Given the description of an element on the screen output the (x, y) to click on. 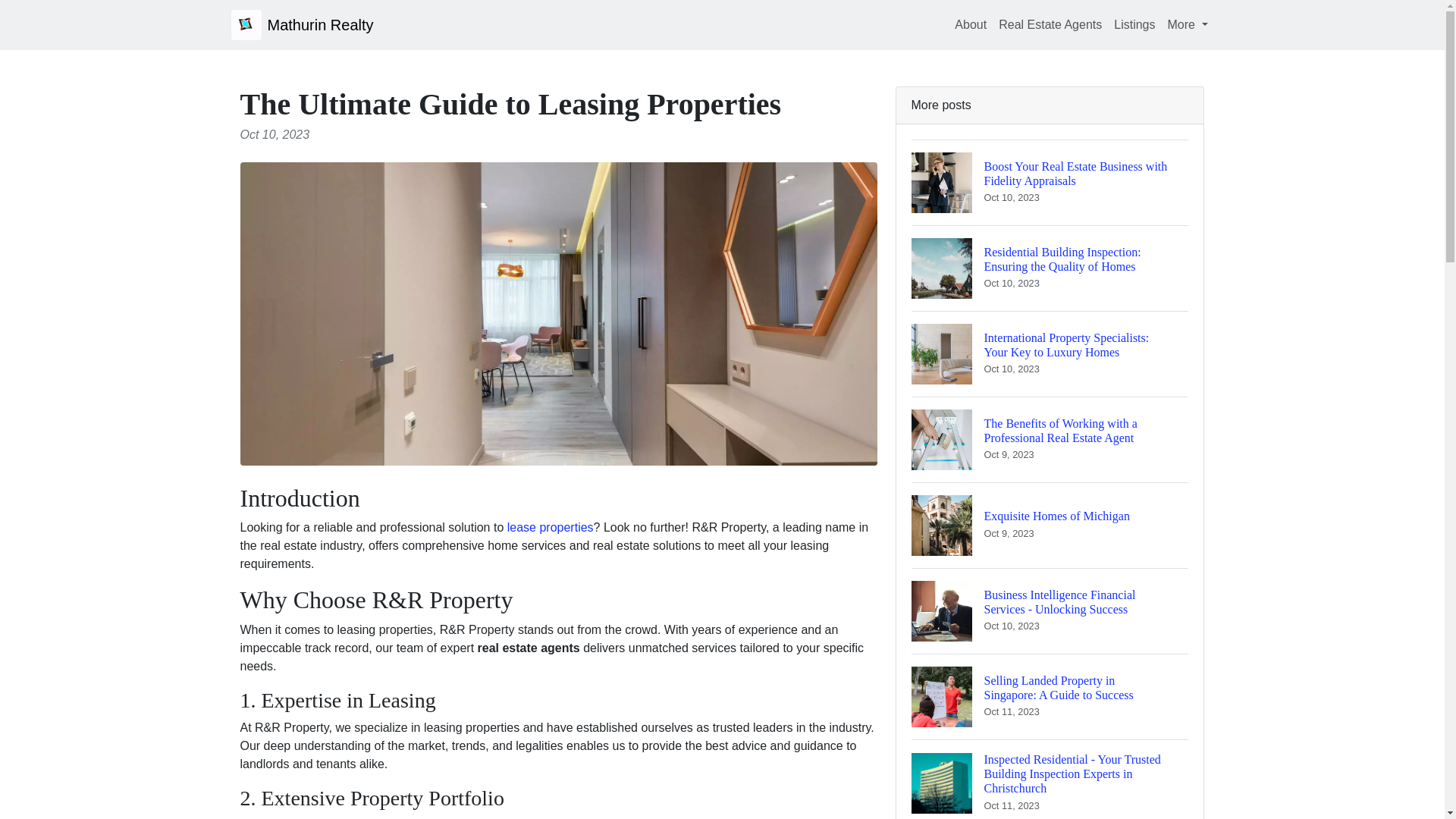
About (970, 24)
lease properties (550, 526)
More (1187, 24)
Mathurin Realty (1050, 525)
